Given the description of an element on the screen output the (x, y) to click on. 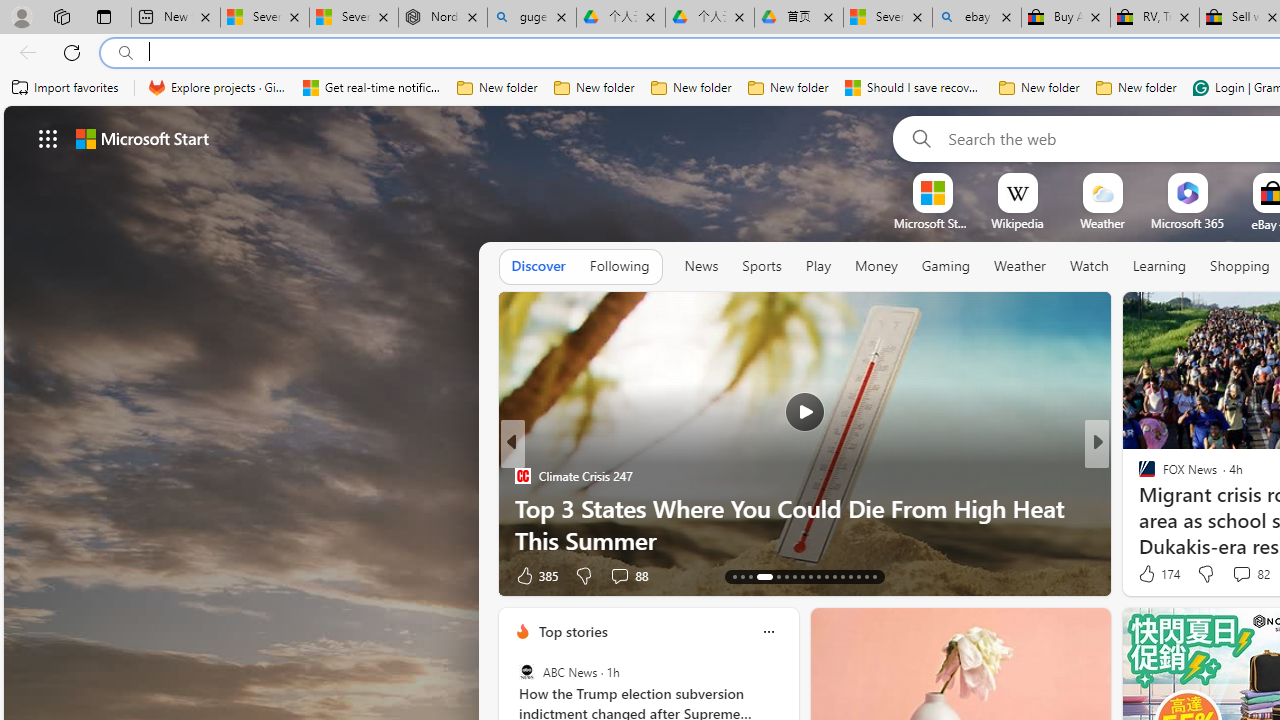
Gaming (945, 265)
174 Like (1157, 574)
AZ Animals (US) (1138, 507)
Weather (1019, 267)
CNN (1138, 475)
AutomationID: tab-15 (750, 576)
ABC News (526, 672)
Class: icon-img (768, 632)
Wikipedia (1017, 223)
Weather (1020, 265)
Microsoft start (142, 138)
AutomationID: tab-17 (778, 576)
AutomationID: tab-14 (742, 576)
